Given the description of an element on the screen output the (x, y) to click on. 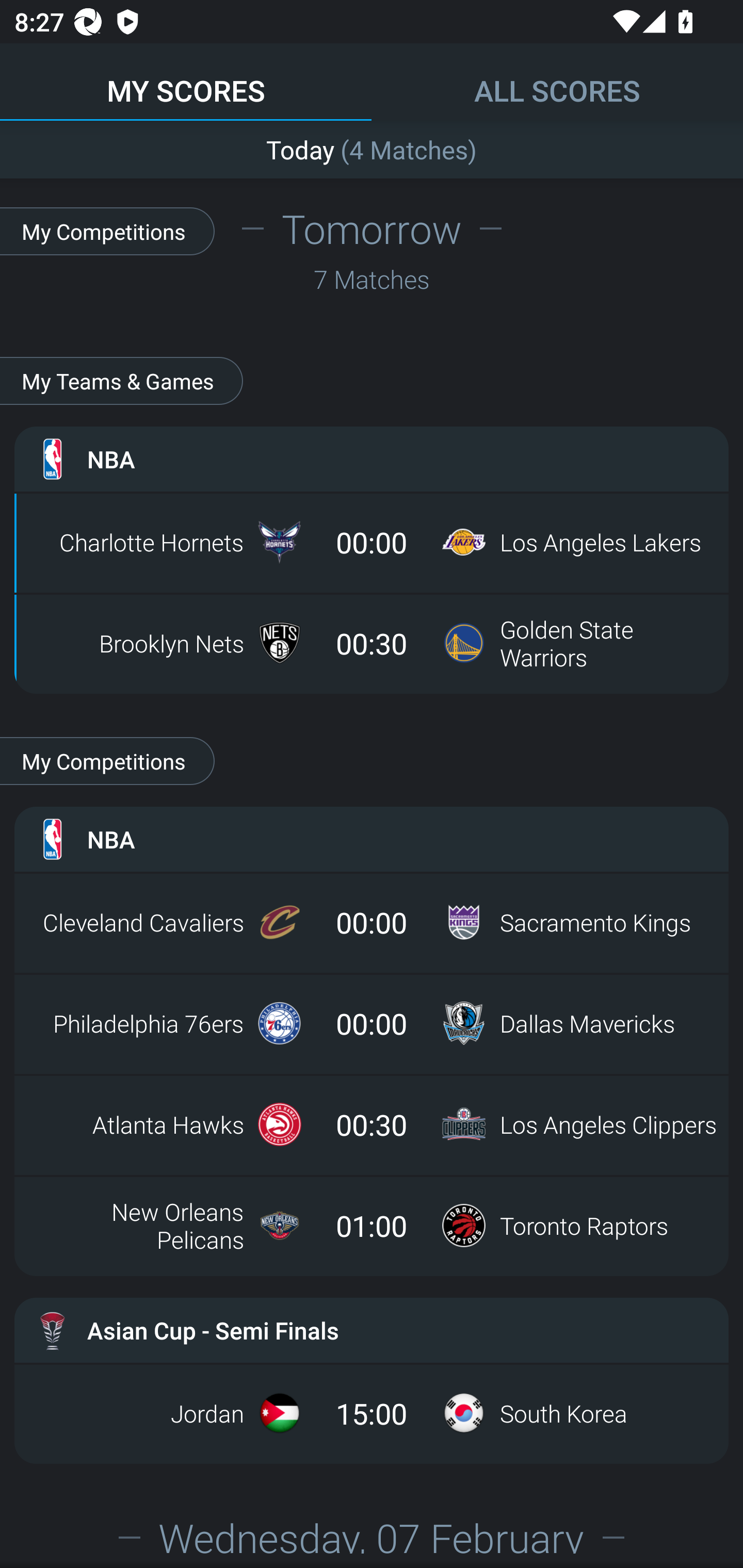
MY SCORES (185, 81)
ALL SCORES (557, 81)
NBA (371, 458)
Charlotte Hornets 00:00 Los Angeles Lakers (371, 541)
Brooklyn Nets 00:30 Golden State Warriors (371, 642)
NBA (371, 838)
Cleveland Cavaliers 00:00 Sacramento Kings (371, 921)
Philadelphia 76ers 00:00 Dallas Mavericks (371, 1023)
Atlanta Hawks 00:30 Los Angeles Clippers (371, 1124)
New Orleans Pelicans 01:00 Toronto Raptors (371, 1225)
Asian Cup - Semi Finals (371, 1330)
Jordan 15:00 South Korea (371, 1413)
